Given the description of an element on the screen output the (x, y) to click on. 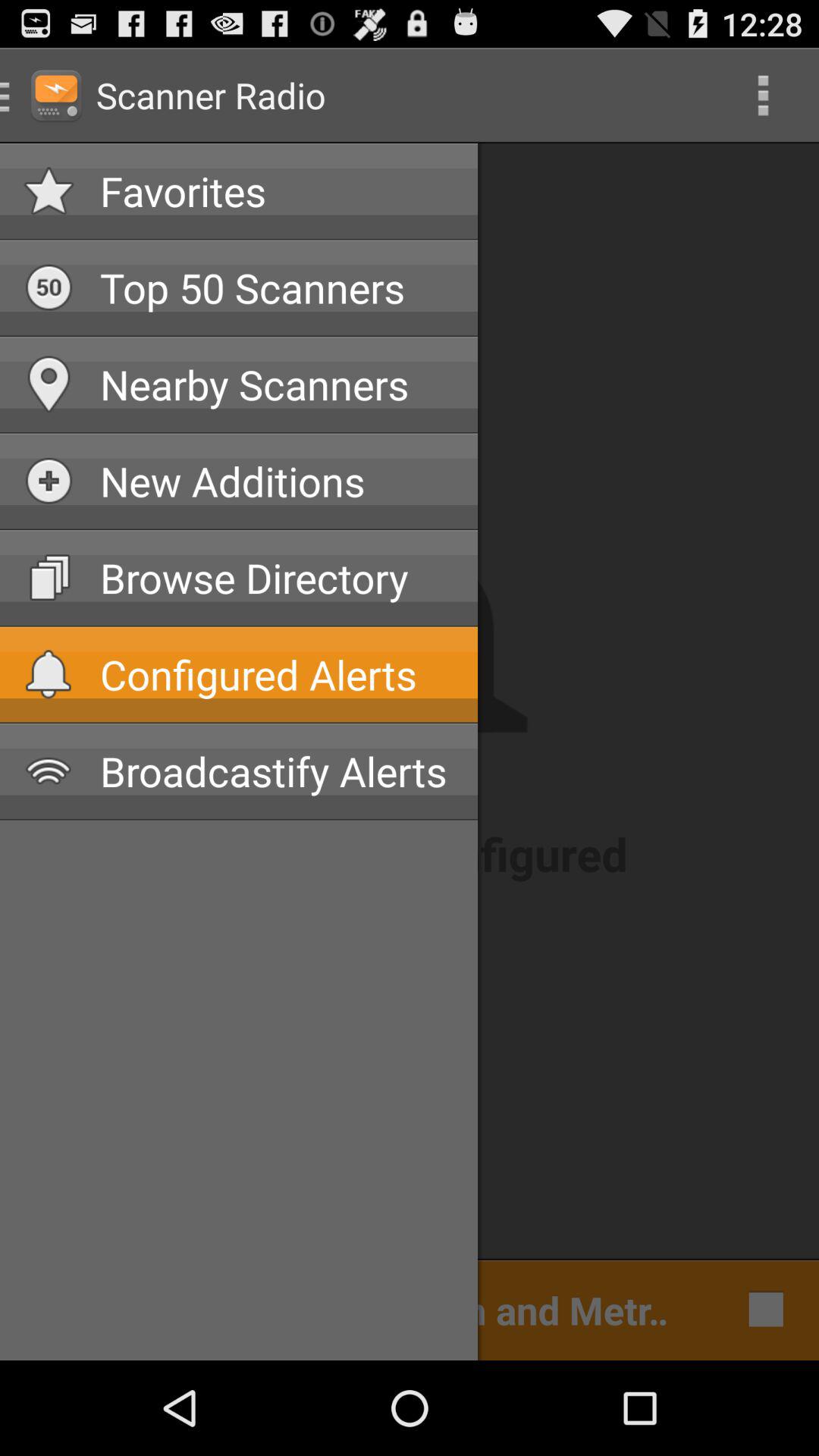
choose the app above the no alerts configured (276, 771)
